Given the description of an element on the screen output the (x, y) to click on. 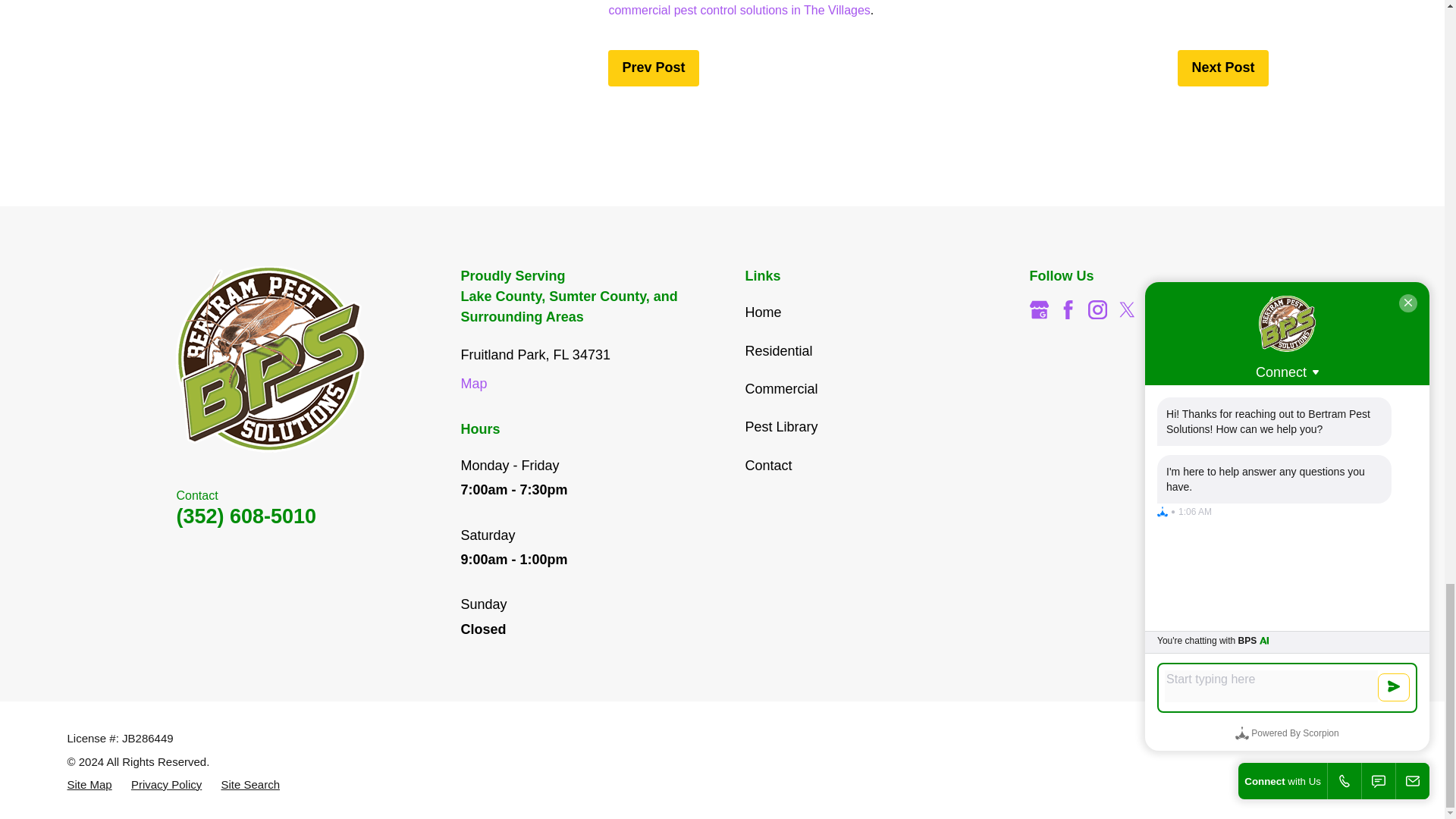
Bertram Pest Solutions (271, 359)
Facebook (1067, 309)
Google Business Profile (1038, 309)
Home (285, 359)
